Given the description of an element on the screen output the (x, y) to click on. 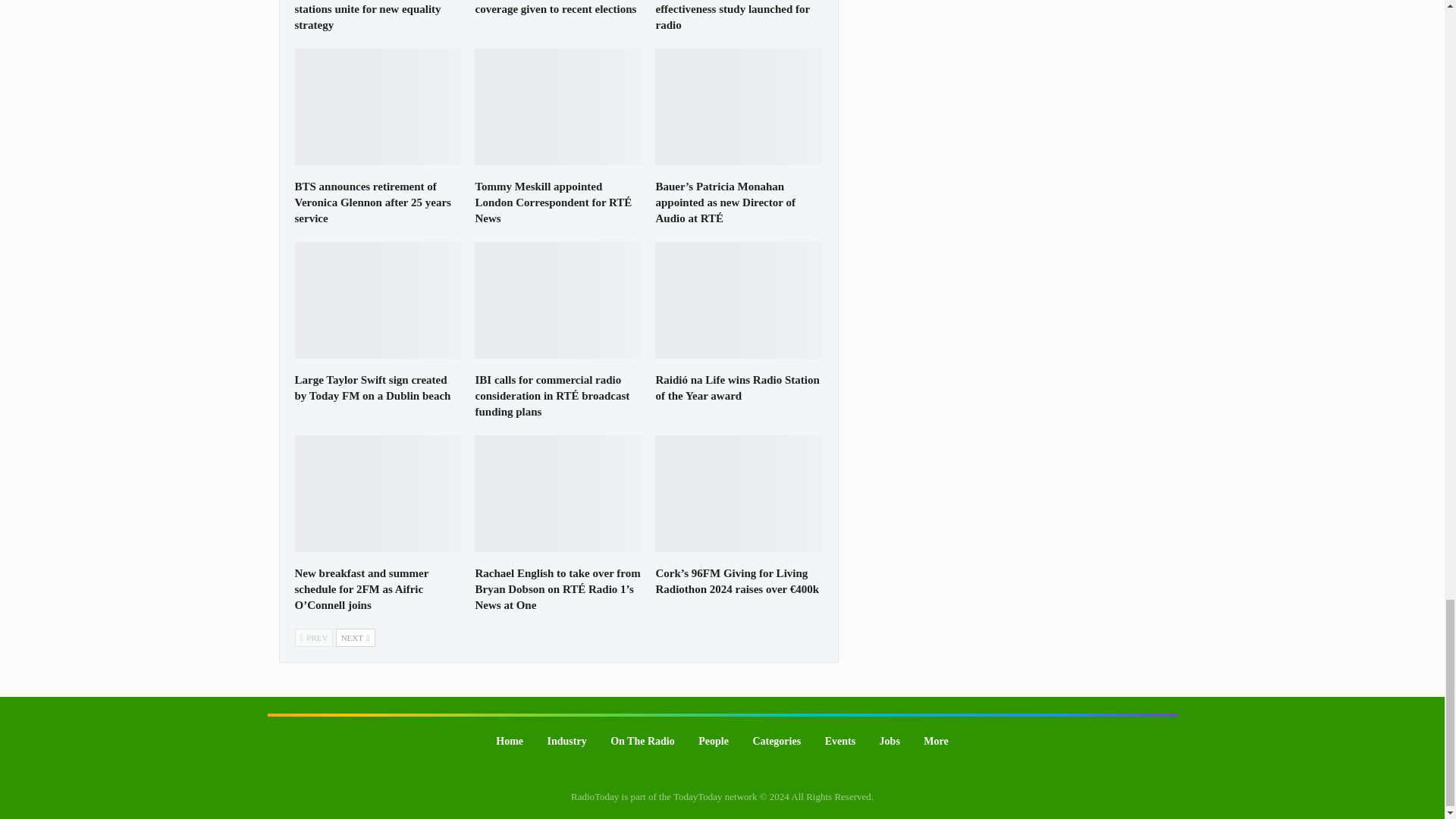
New audio advertising effectiveness study launched for radio (732, 15)
